Given the description of an element on the screen output the (x, y) to click on. 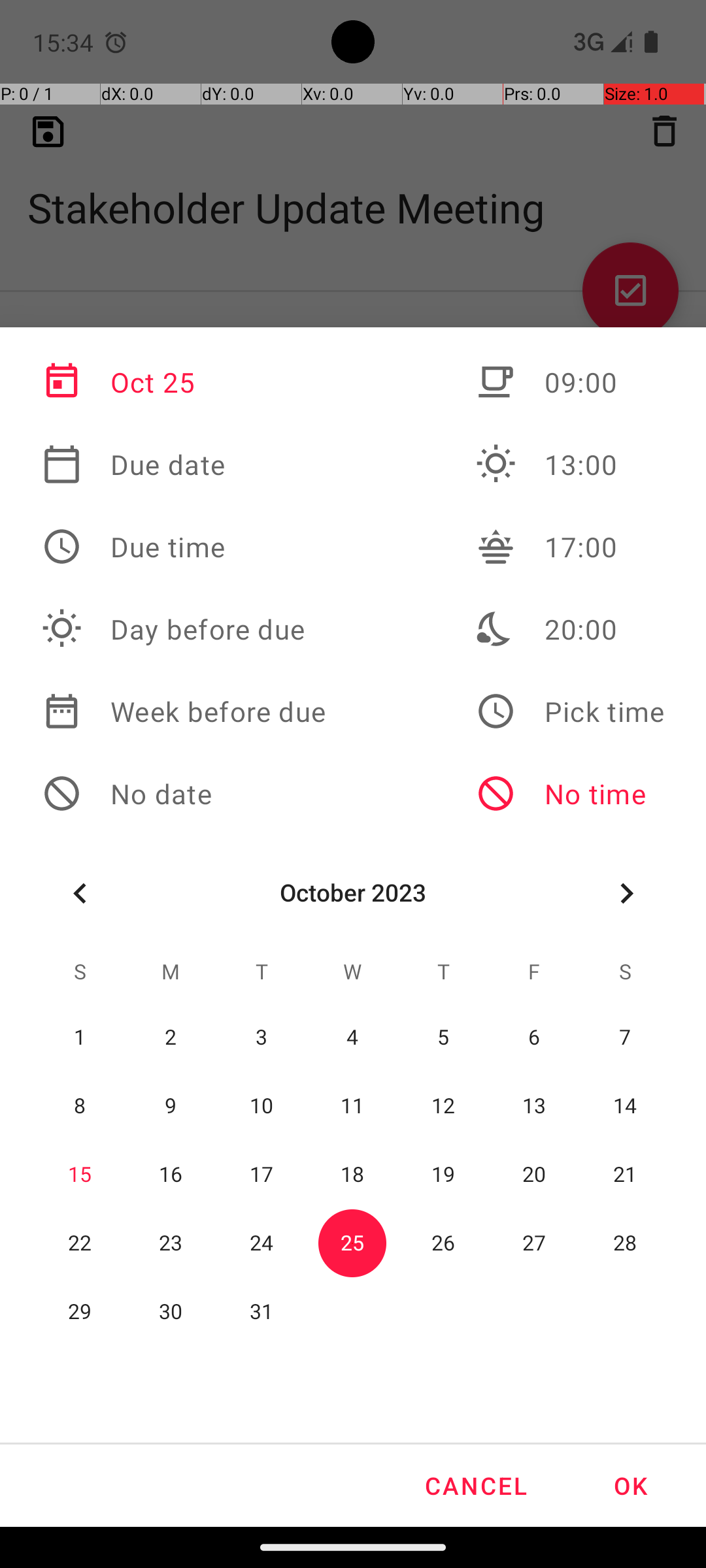
Oct 25 Element type: android.widget.CompoundButton (183, 382)
